Given the description of an element on the screen output the (x, y) to click on. 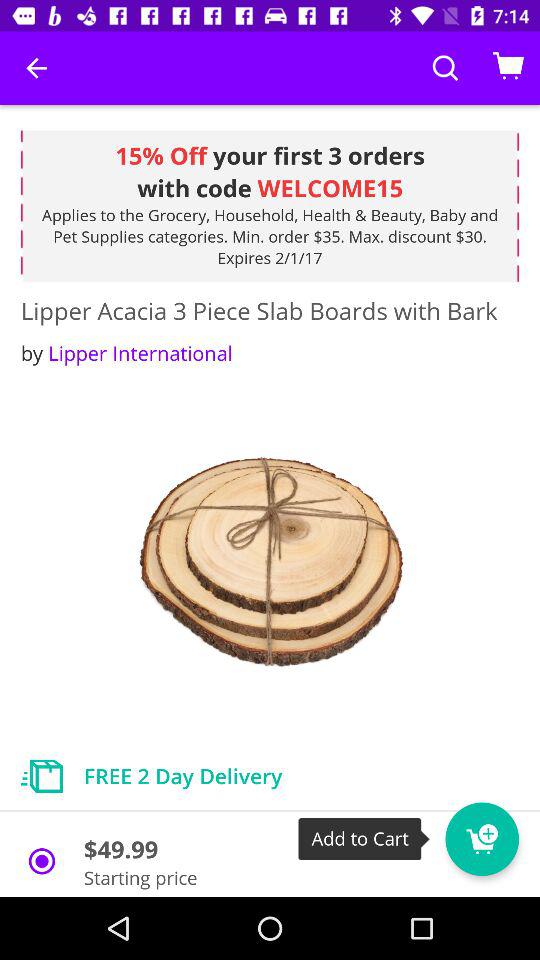
tap icon below by lipper international icon (270, 562)
